Given the description of an element on the screen output the (x, y) to click on. 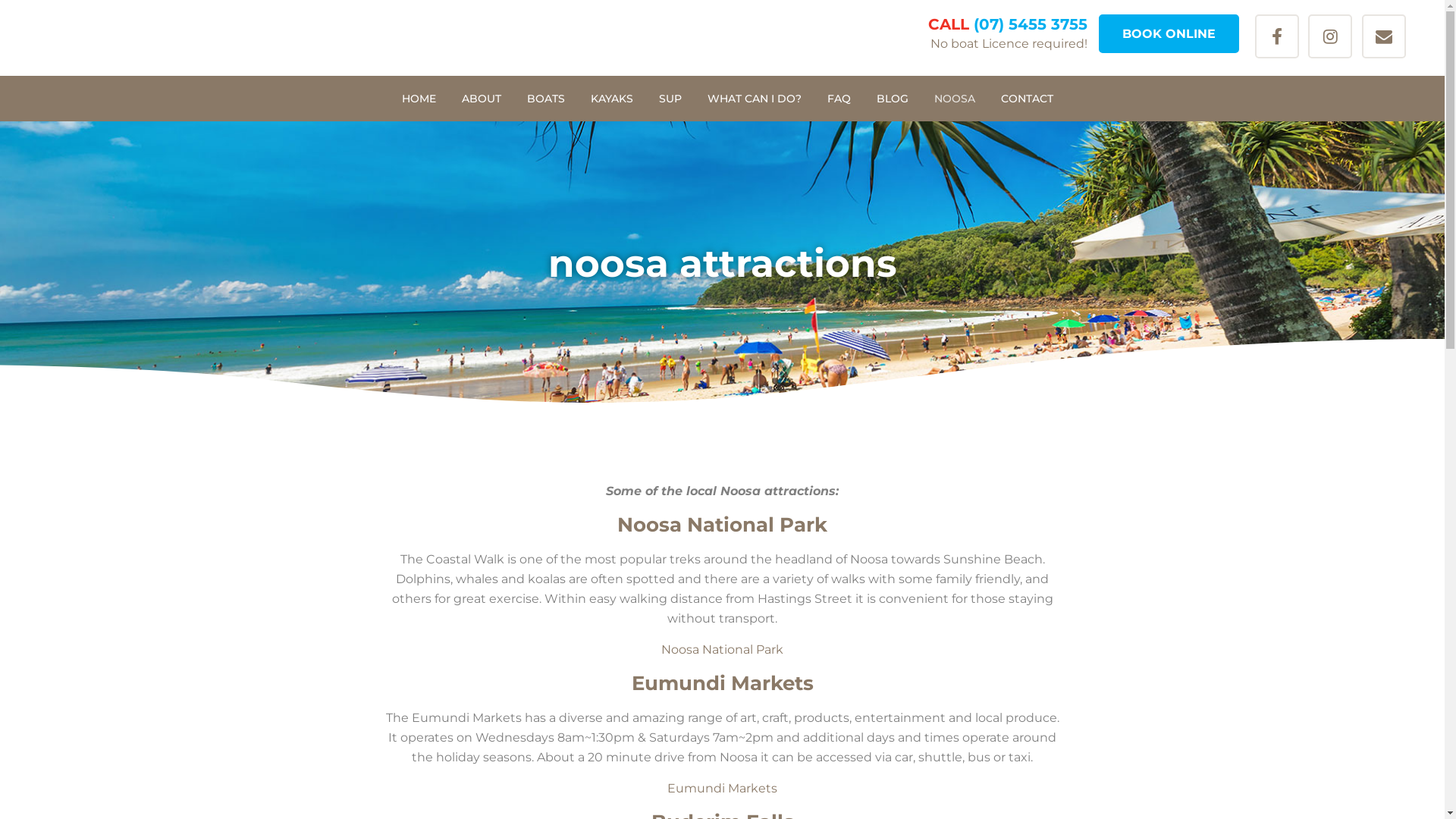
WHAT CAN I DO? Element type: text (754, 98)
ABOUT Element type: text (481, 98)
HOME Element type: text (424, 98)
NOOSA Element type: text (953, 98)
Eumundi Markets Element type: text (722, 788)
CONTACT Element type: text (1026, 98)
SUP Element type: text (670, 98)
(07) 5455 3755 Element type: text (1030, 24)
BOATS Element type: text (545, 98)
BOOK ONLINE Element type: text (1168, 33)
BLOG Element type: text (891, 98)
Noosa National Park Element type: text (722, 649)
FAQ Element type: text (838, 98)
KAYAKS Element type: text (611, 98)
